Given the description of an element on the screen output the (x, y) to click on. 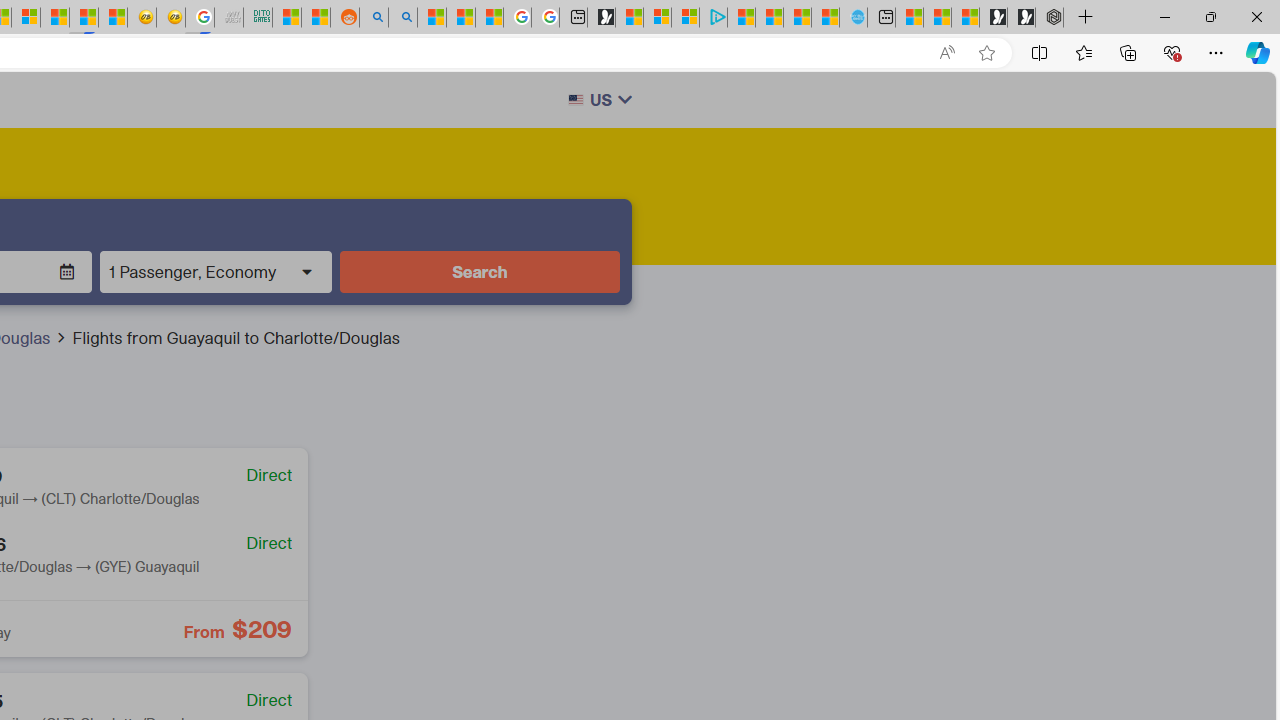
Flights from Guayaquil to Charlotte/Douglas (235, 337)
